Given the description of an element on the screen output the (x, y) to click on. 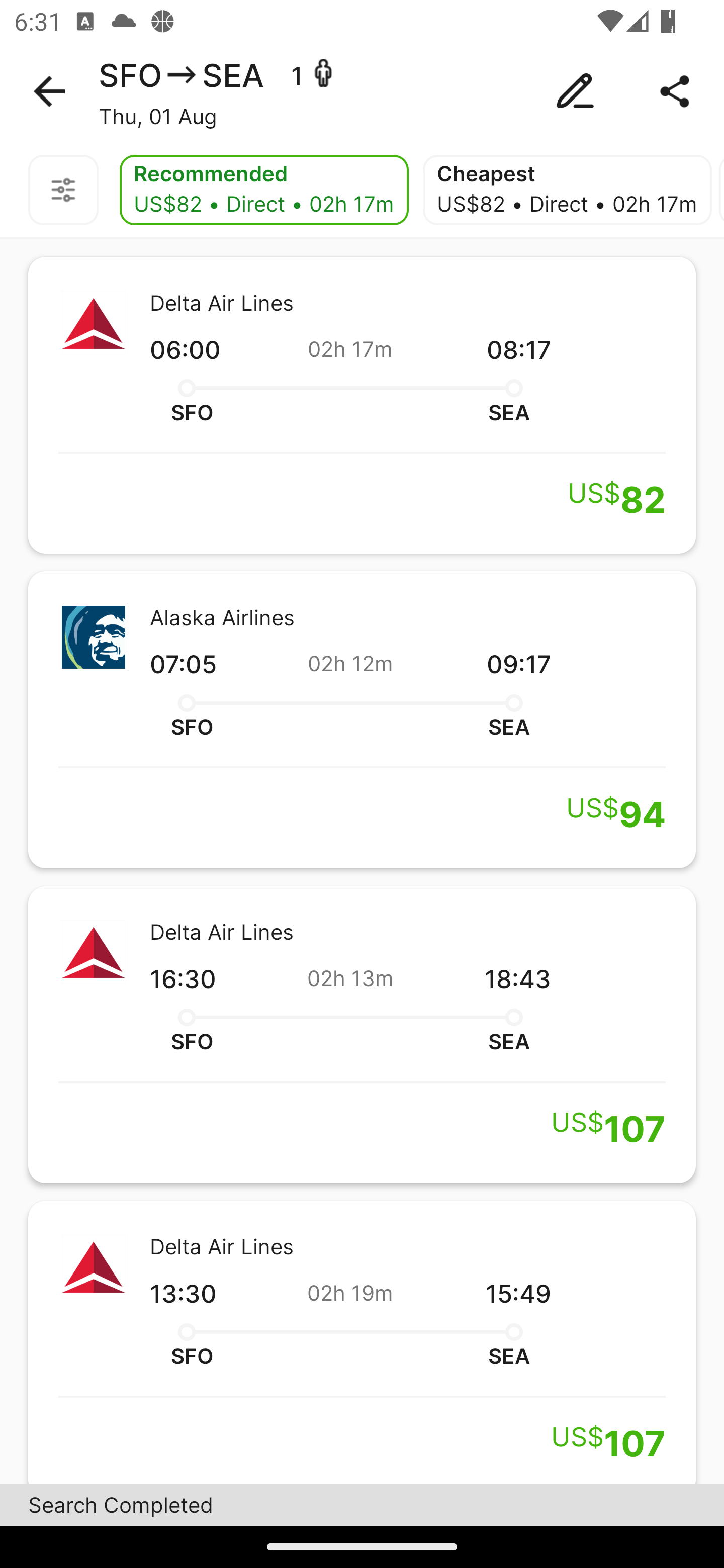
SFO SEA   1 - Thu, 01 Aug (361, 91)
Recommended  US$82 • Direct • 02h 17m (264, 190)
Cheapest US$82 • Direct • 02h 17m (566, 190)
Delta Air Lines 06:00 02h 17m 08:17 SFO SEA (361, 405)
Alaska Airlines 07:05 02h 12m 09:17 SFO SEA (361, 719)
Delta Air Lines 16:30 02h 13m 18:43 SFO SEA (361, 1033)
Delta Air Lines 13:30 02h 19m 15:49 SFO SEA (361, 1342)
